Given the description of an element on the screen output the (x, y) to click on. 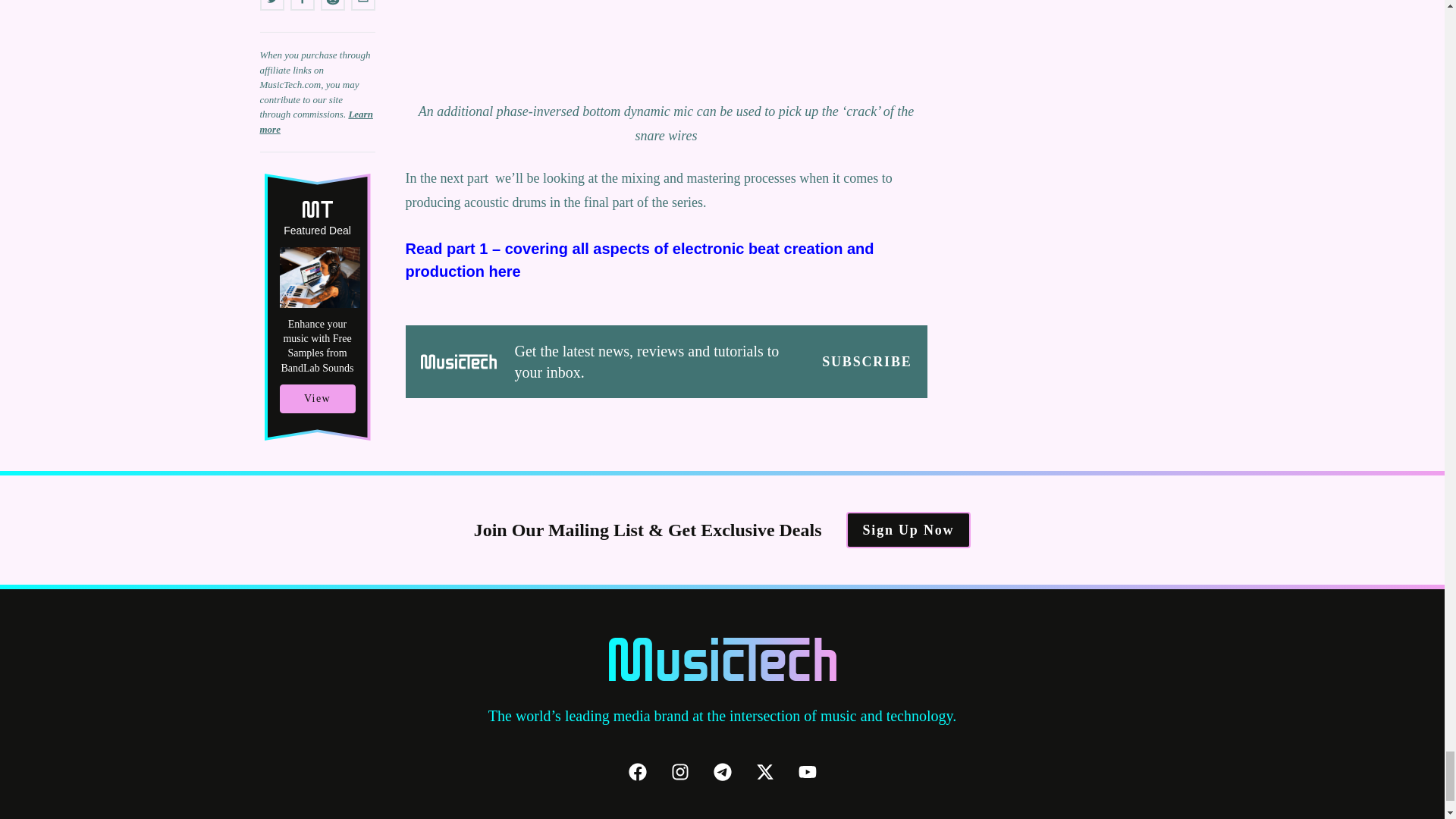
SUBSCRIBE (866, 361)
Join our mailing list (866, 361)
